Given the description of an element on the screen output the (x, y) to click on. 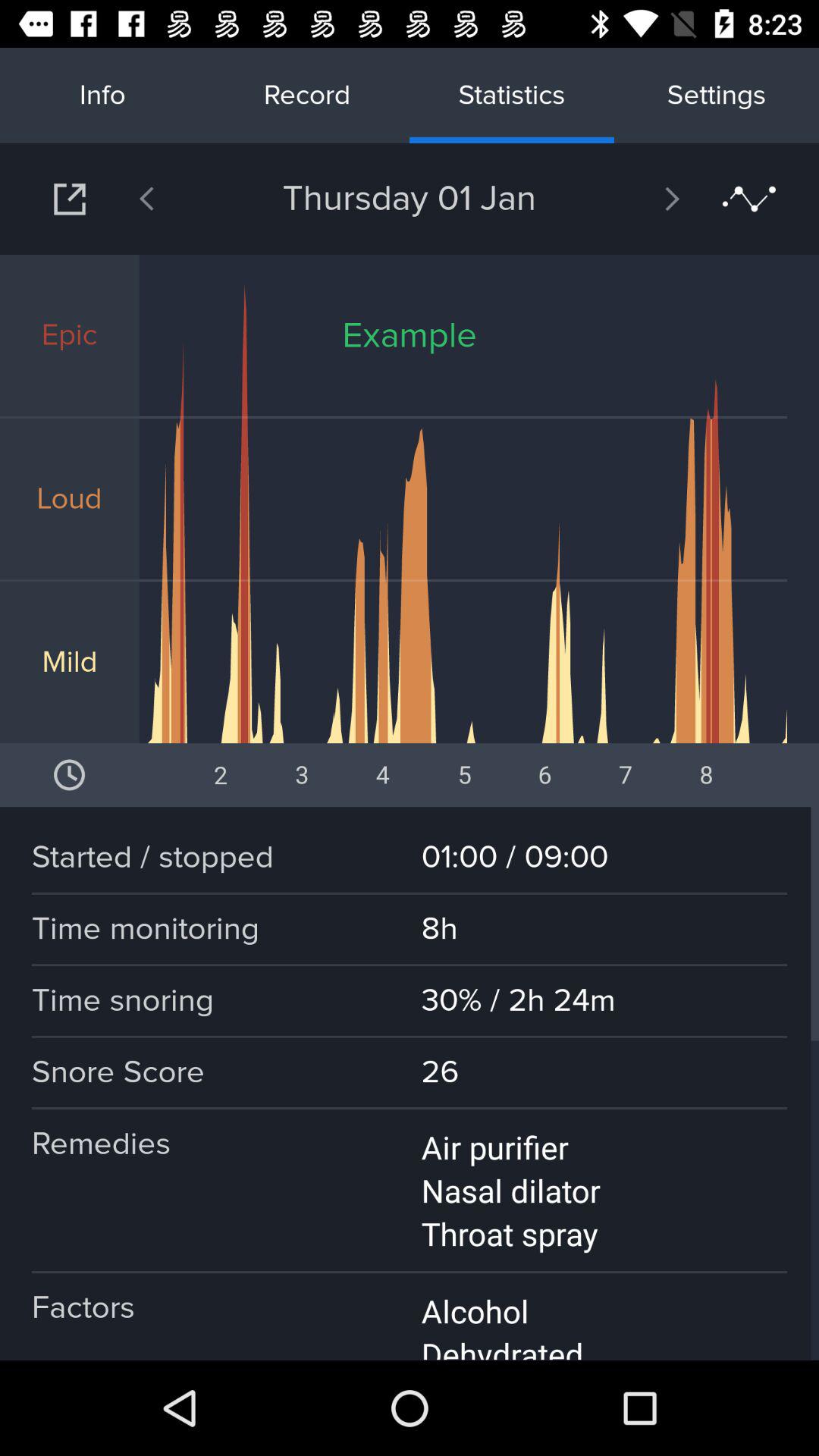
go to next day (632, 198)
